Given the description of an element on the screen output the (x, y) to click on. 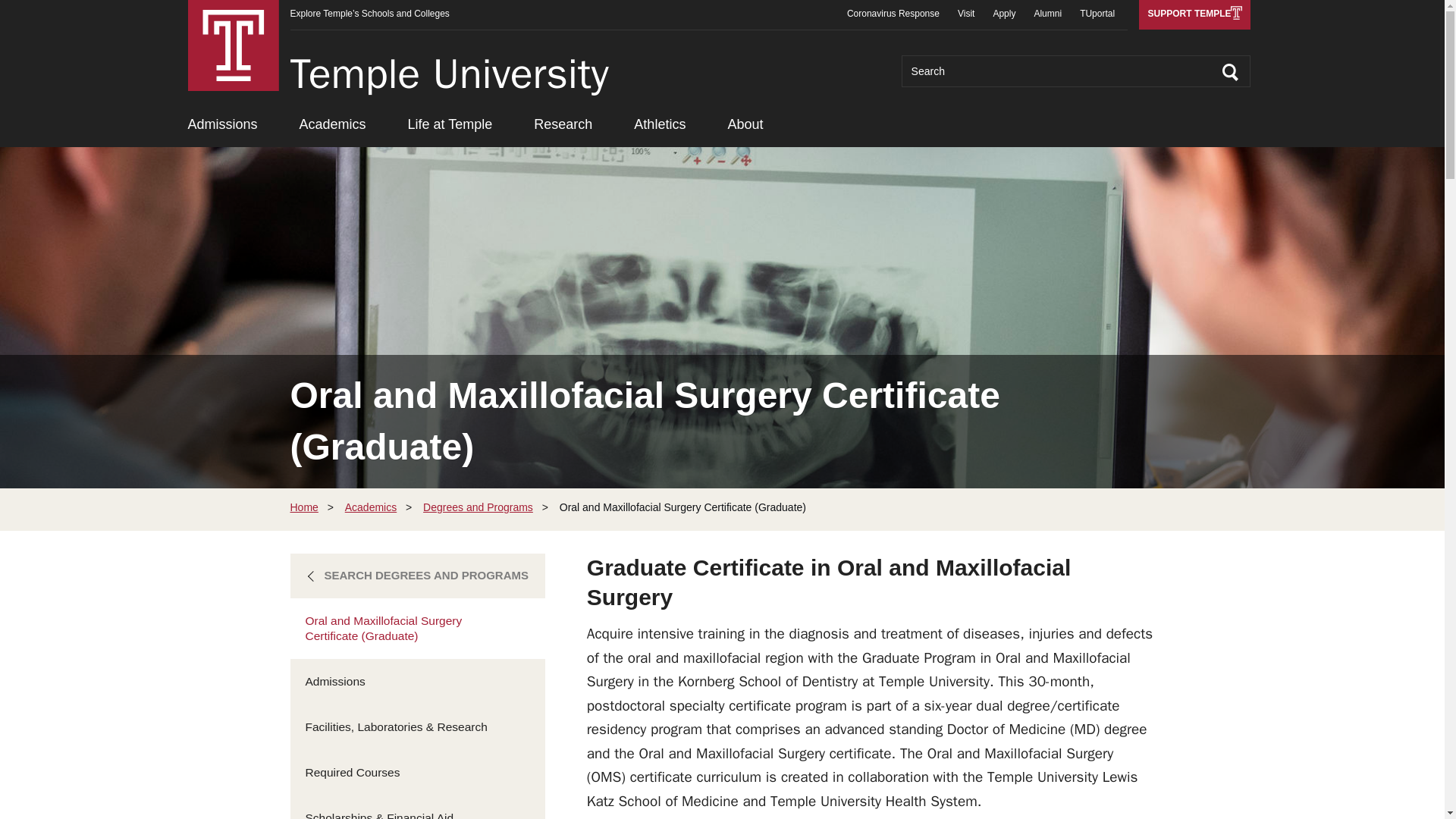
Academics (332, 127)
Search (1231, 72)
Home (448, 73)
Alumni (1047, 14)
Search (1075, 70)
Apply (1004, 14)
Life at Temple (450, 127)
SUPPORT TEMPLE (1194, 14)
visit temple.edu homepage (233, 45)
TUportal (1097, 14)
Admissions (222, 127)
Search (1231, 72)
Temple University (233, 45)
Visit (966, 14)
Search Site (1231, 72)
